Given the description of an element on the screen output the (x, y) to click on. 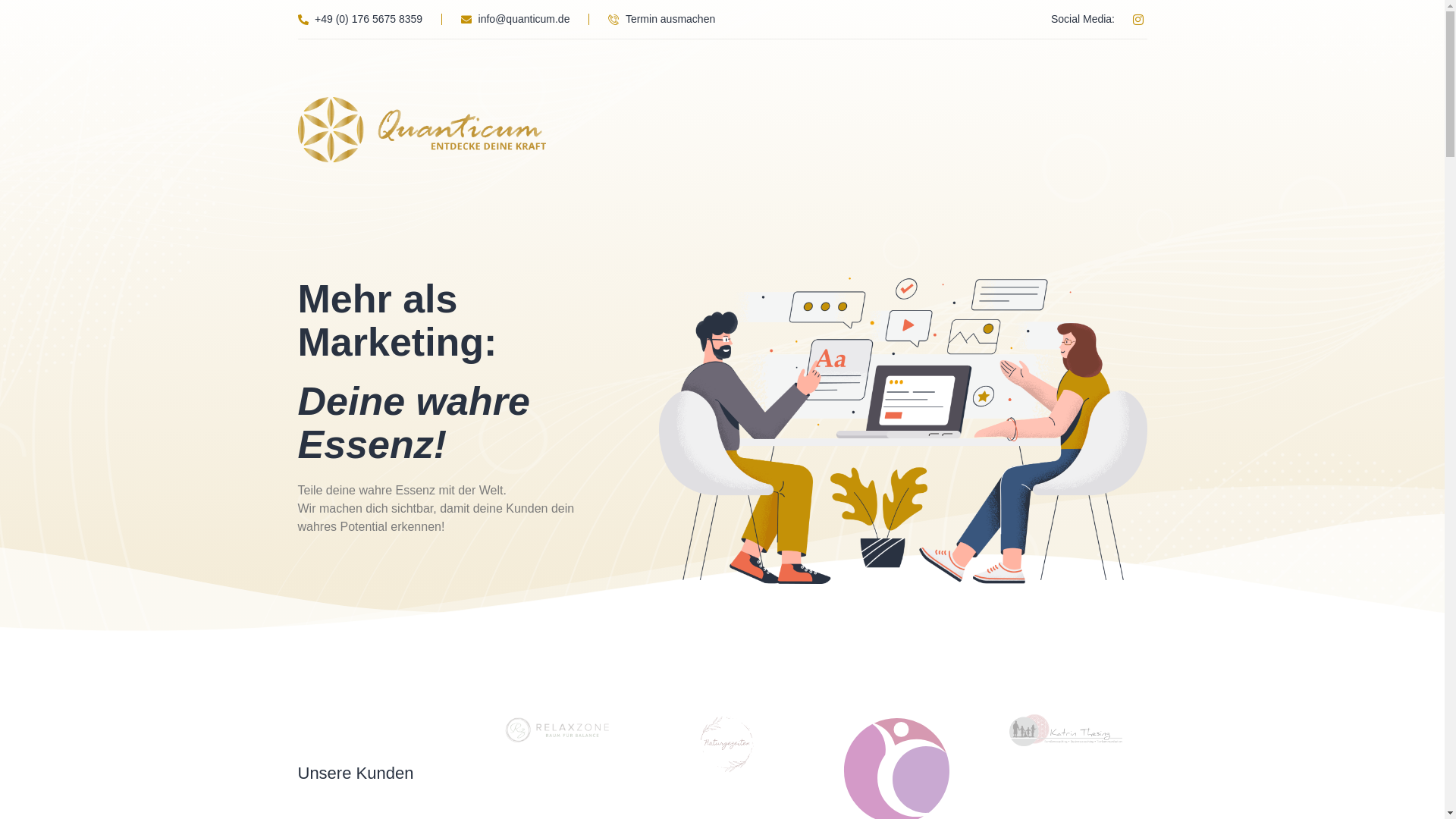
info@quanticum.de Element type: text (515, 19)
Termin ausmachen Element type: text (661, 19)
+49 (0) 176 5675 8359 Element type: text (359, 19)
RelaxZone Element type: hover (557, 732)
Katrin Thesing Coaching Element type: hover (1065, 732)
Naturgezeiten Element type: hover (727, 746)
